Given the description of an element on the screen output the (x, y) to click on. 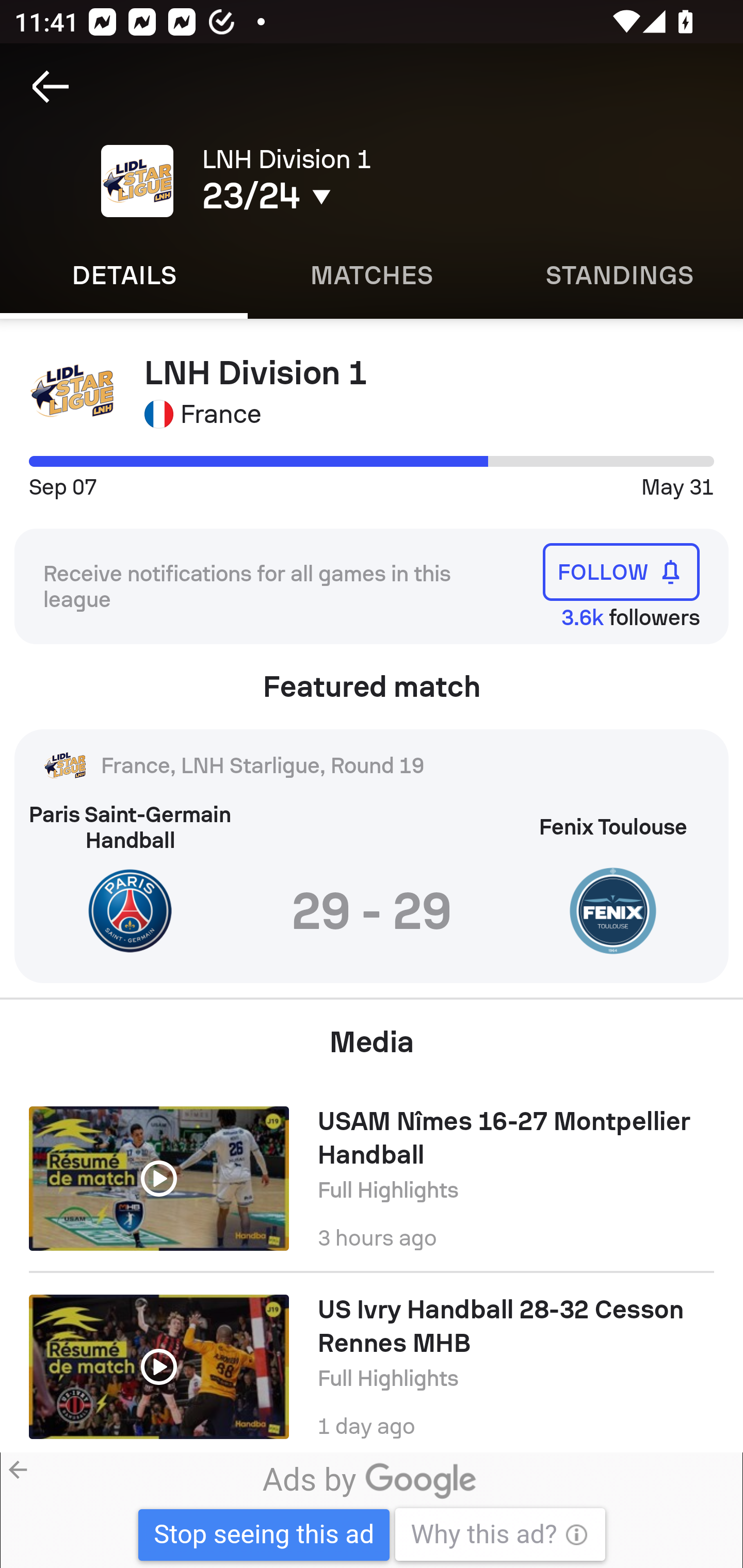
Navigate up (50, 86)
23/24 (350, 195)
Matches MATCHES (371, 275)
Standings STANDINGS (619, 275)
FOLLOW (621, 571)
